Given the description of an element on the screen output the (x, y) to click on. 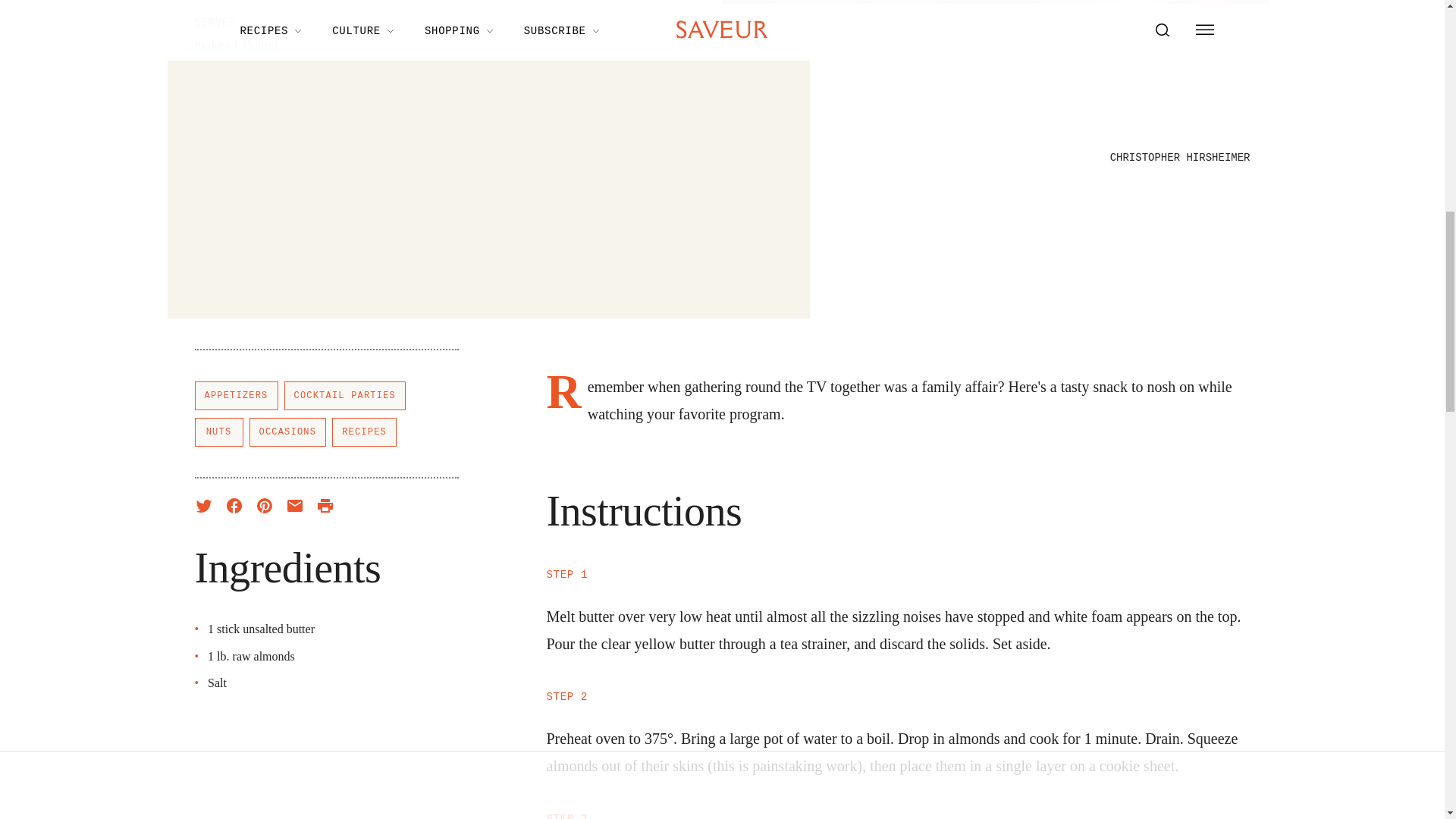
RECIPES (363, 431)
COCKTAIL PARTIES (344, 395)
Share on Twitter (202, 505)
Share on Facebook (233, 505)
APPETIZERS (235, 395)
NUTS (218, 431)
OCCASIONS (287, 431)
